Given the description of an element on the screen output the (x, y) to click on. 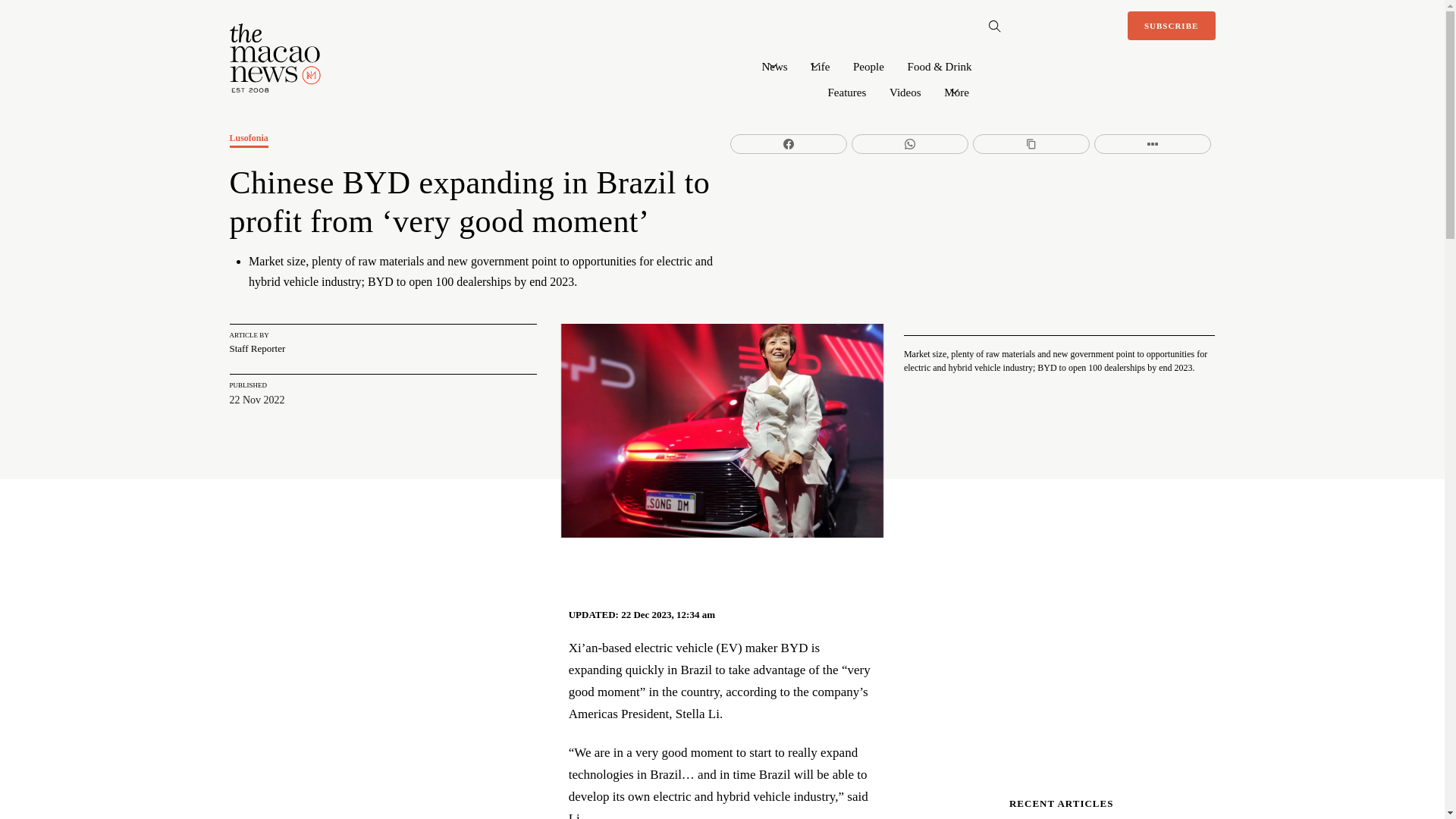
Share on WhatsApp (909, 143)
News (774, 65)
Share on More Button (1152, 143)
Share on Copy Link (1030, 143)
SUBSCRIBE (1170, 25)
Share on Facebook (788, 143)
